Given the description of an element on the screen output the (x, y) to click on. 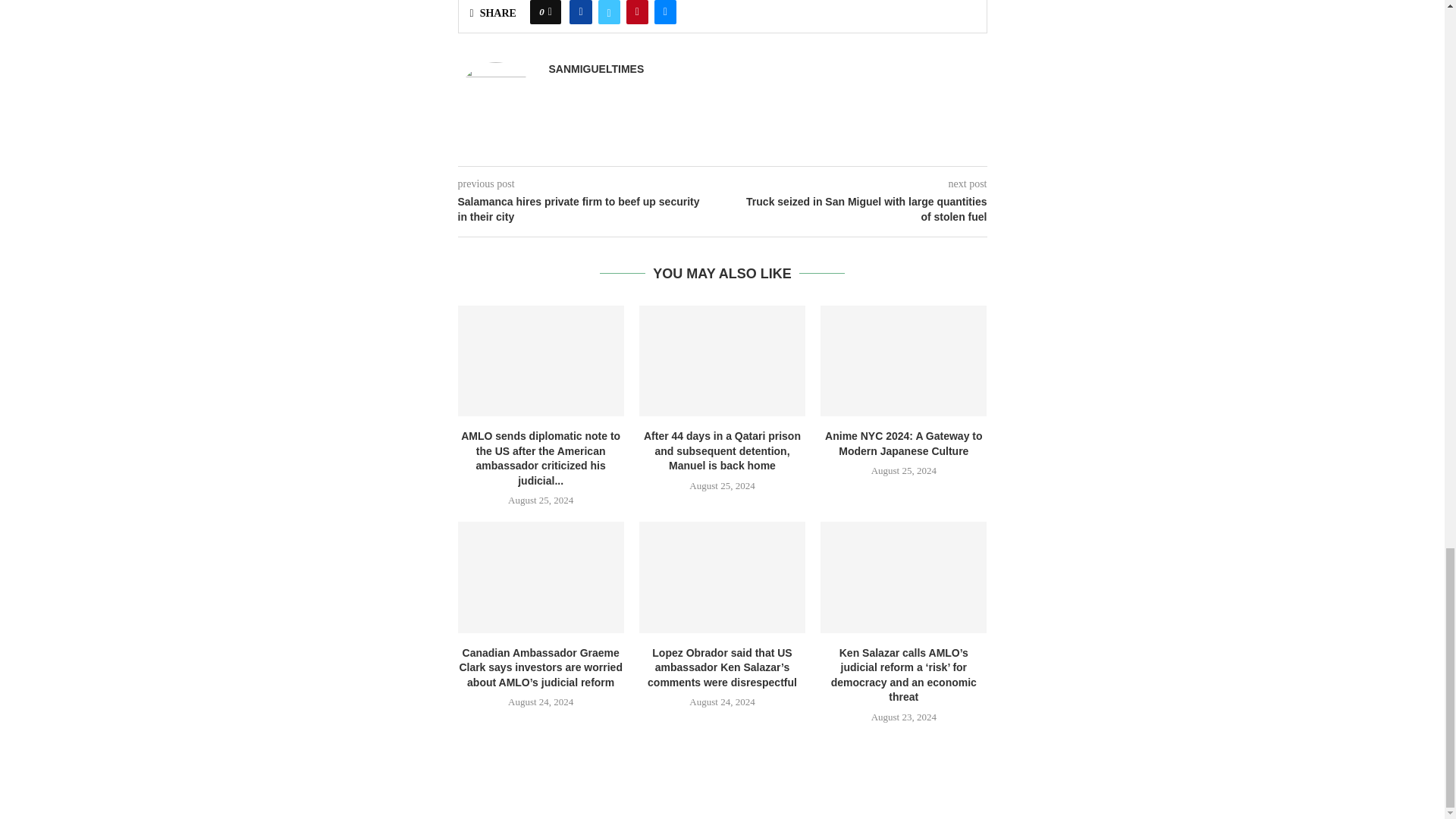
Anime NYC 2024: A Gateway to Modern Japanese Culture (904, 360)
Author sanmigueltimes (596, 69)
